Given the description of an element on the screen output the (x, y) to click on. 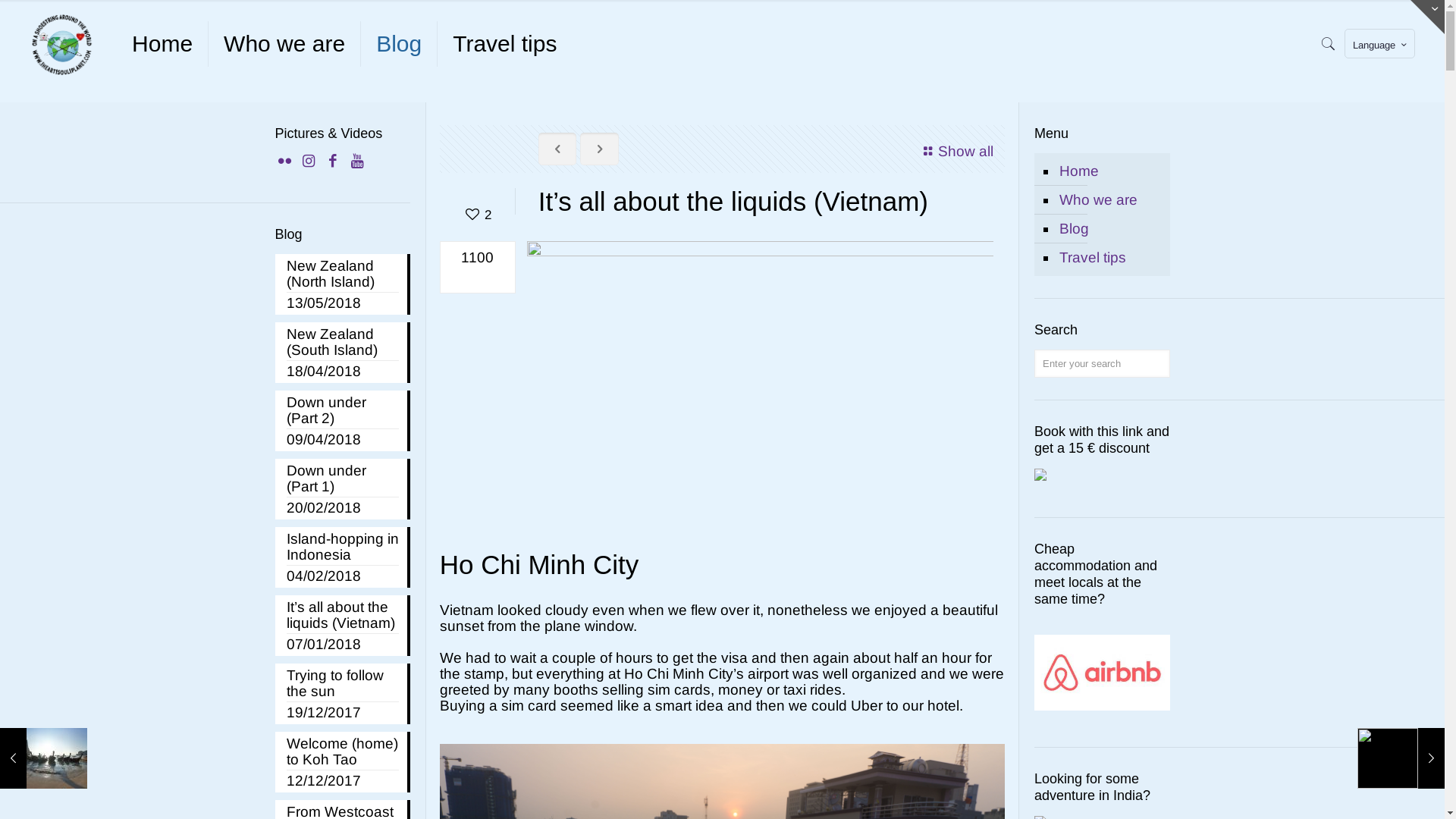
Island-hopping in Indonesia Element type: text (342, 547)
Home Element type: text (162, 43)
Language Element type: text (1379, 43)
Travel tips Element type: text (1109, 257)
Down under (Part 2) Element type: text (342, 411)
Who we are Element type: text (284, 43)
Home Element type: text (1109, 170)
Welcome (home) to Koh Tao Element type: text (342, 752)
Blog Element type: text (398, 43)
Down under (Part 1) Element type: text (342, 479)
New Zealand (North Island) Element type: text (342, 274)
1heart1soul1planet Element type: hover (61, 43)
2 Element type: text (477, 214)
Travel tips Element type: text (504, 43)
Blog Element type: text (1109, 228)
Who we are Element type: text (1109, 199)
New Zealand (South Island) Element type: text (342, 343)
Trying to follow the sun Element type: text (342, 684)
Show all Element type: text (956, 150)
